Given the description of an element on the screen output the (x, y) to click on. 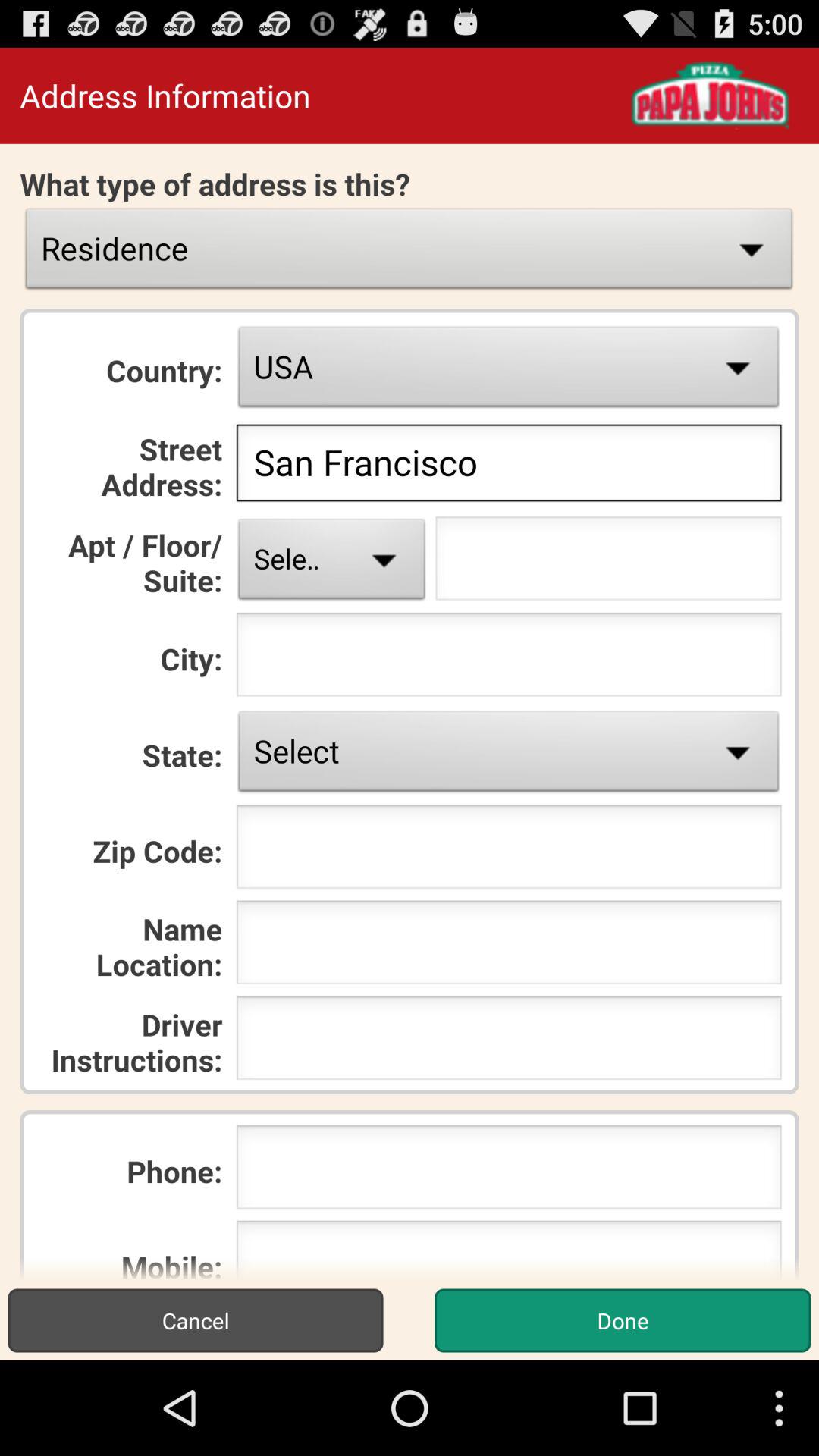
enter the zip code pox (508, 851)
